Given the description of an element on the screen output the (x, y) to click on. 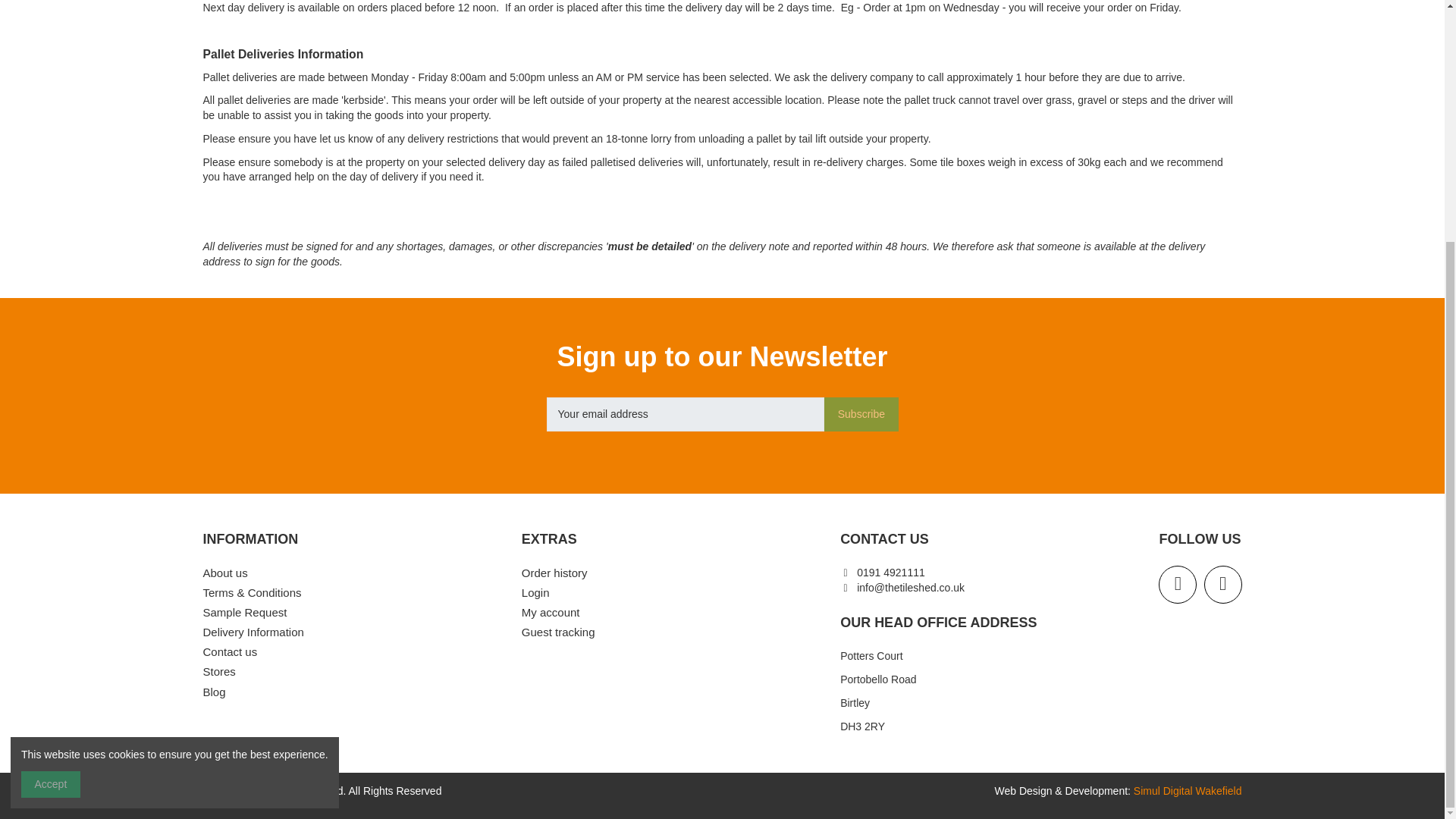
Our terms and conditions of use (252, 592)
Tile Shed terms and conditions of delivery (253, 631)
Use our form to contact us (230, 652)
Subscribe (861, 414)
Learn more about us at Tile Shed (225, 572)
Our sample service here at Tile Shed (244, 612)
